Given the description of an element on the screen output the (x, y) to click on. 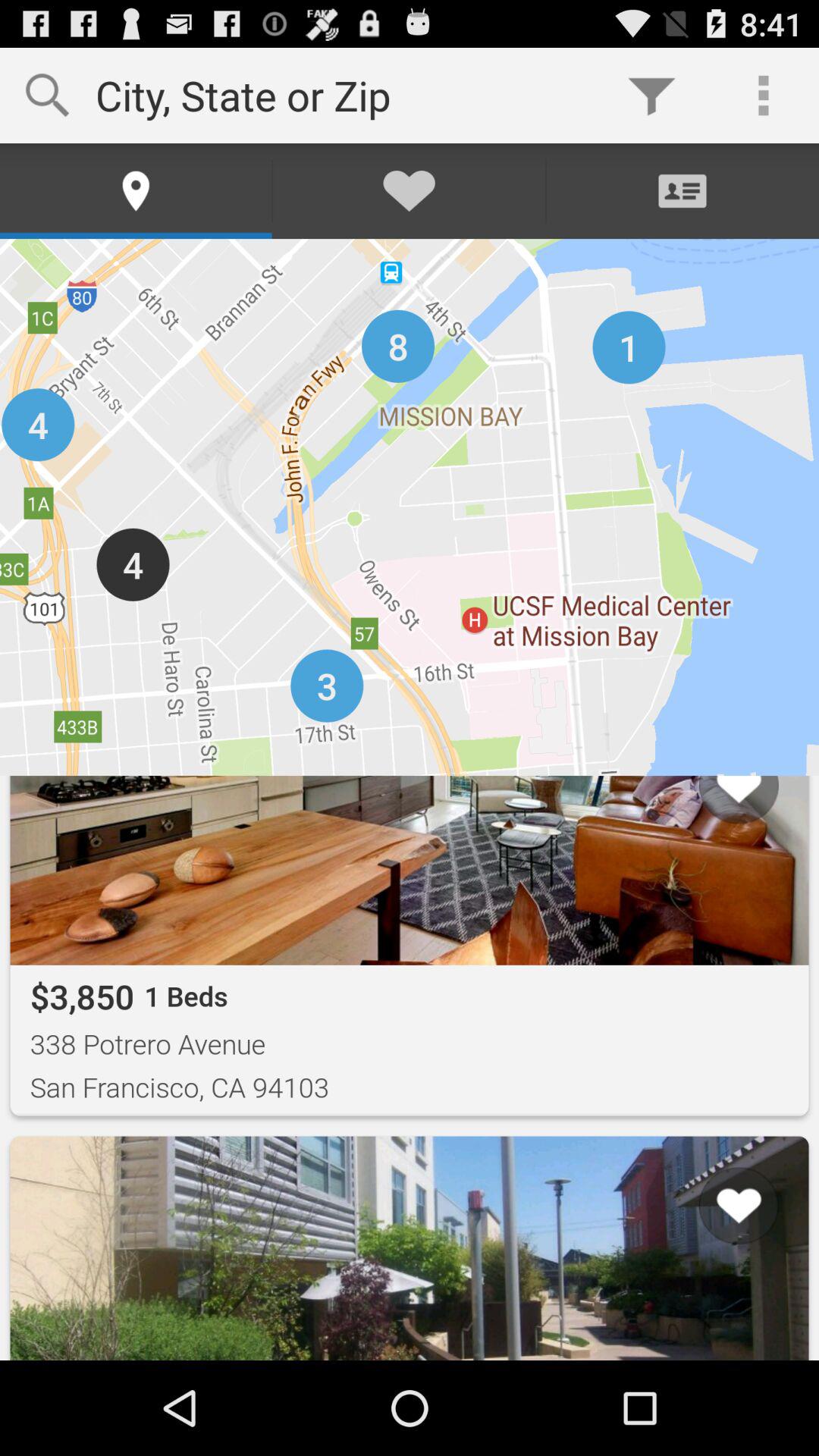
launch list (719, 1302)
